Given the description of an element on the screen output the (x, y) to click on. 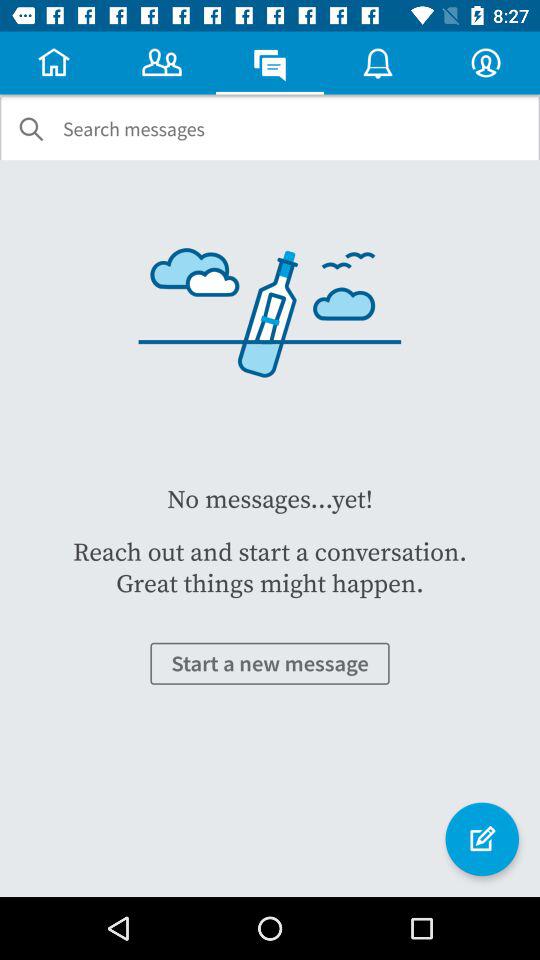
click the home button (53, 62)
click on the note icon (482, 839)
select the third message icon from the top left (269, 62)
select the field which says search messages (134, 129)
select the notification icon on top of the page (377, 62)
select the  icon which is left to the text search messages (31, 129)
select the symbol which is at the first right to the home button (161, 62)
select profile icon which is on the top right corner of the screen (485, 62)
